Given the description of an element on the screen output the (x, y) to click on. 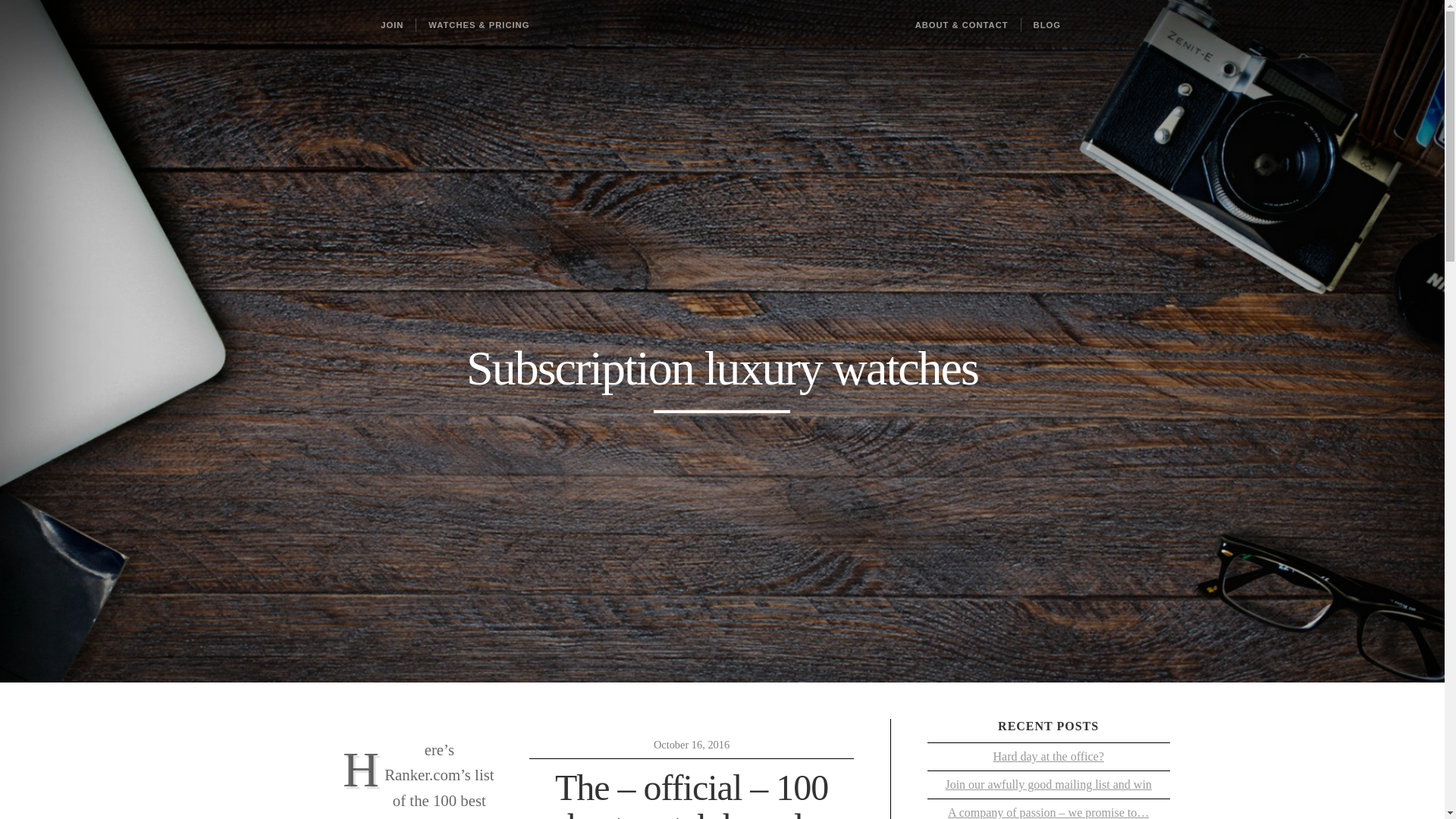
My CMS (721, 24)
BLOG (1046, 24)
Hard day at the office? (1047, 756)
JOIN (391, 24)
Join our awfully good mailing list and win (1047, 784)
